Given the description of an element on the screen output the (x, y) to click on. 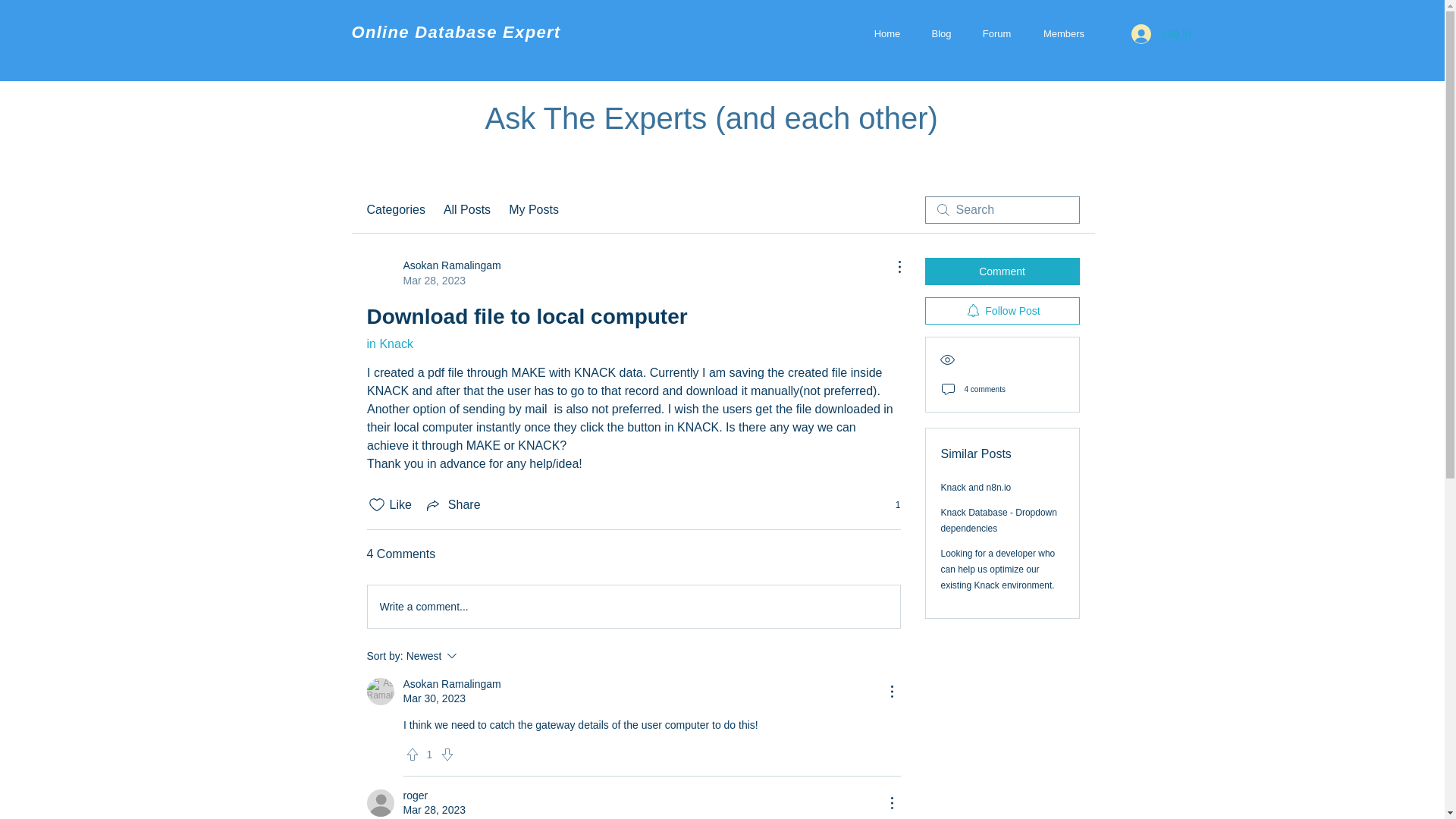
1 (890, 504)
in Knack (389, 343)
Forum (996, 33)
Share (451, 505)
Online Database Expert (456, 31)
Log In (1161, 33)
Home (888, 33)
All Posts (467, 209)
Asokan Ramalingam (451, 684)
Categories (395, 209)
